Given the description of an element on the screen output the (x, y) to click on. 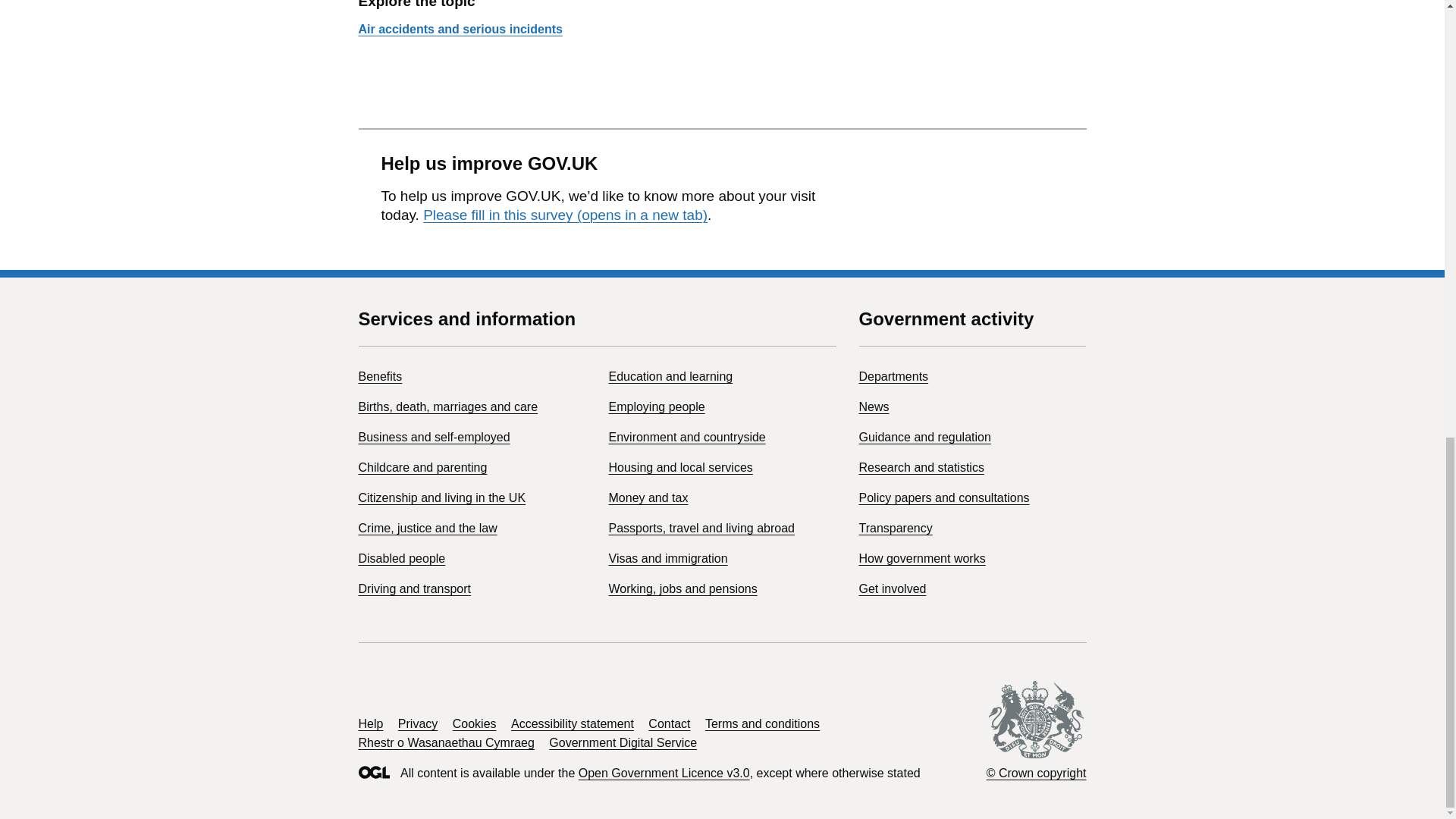
Births, death, marriages and care (447, 406)
Business and self-employed (433, 436)
Air accidents and serious incidents (460, 29)
Departments (893, 376)
Crime, justice and the law (427, 527)
Citizenship and living in the UK (441, 497)
Education and learning (670, 376)
How government works (922, 558)
Policy papers and consultations (944, 497)
Guidance and regulation (924, 436)
